Given the description of an element on the screen output the (x, y) to click on. 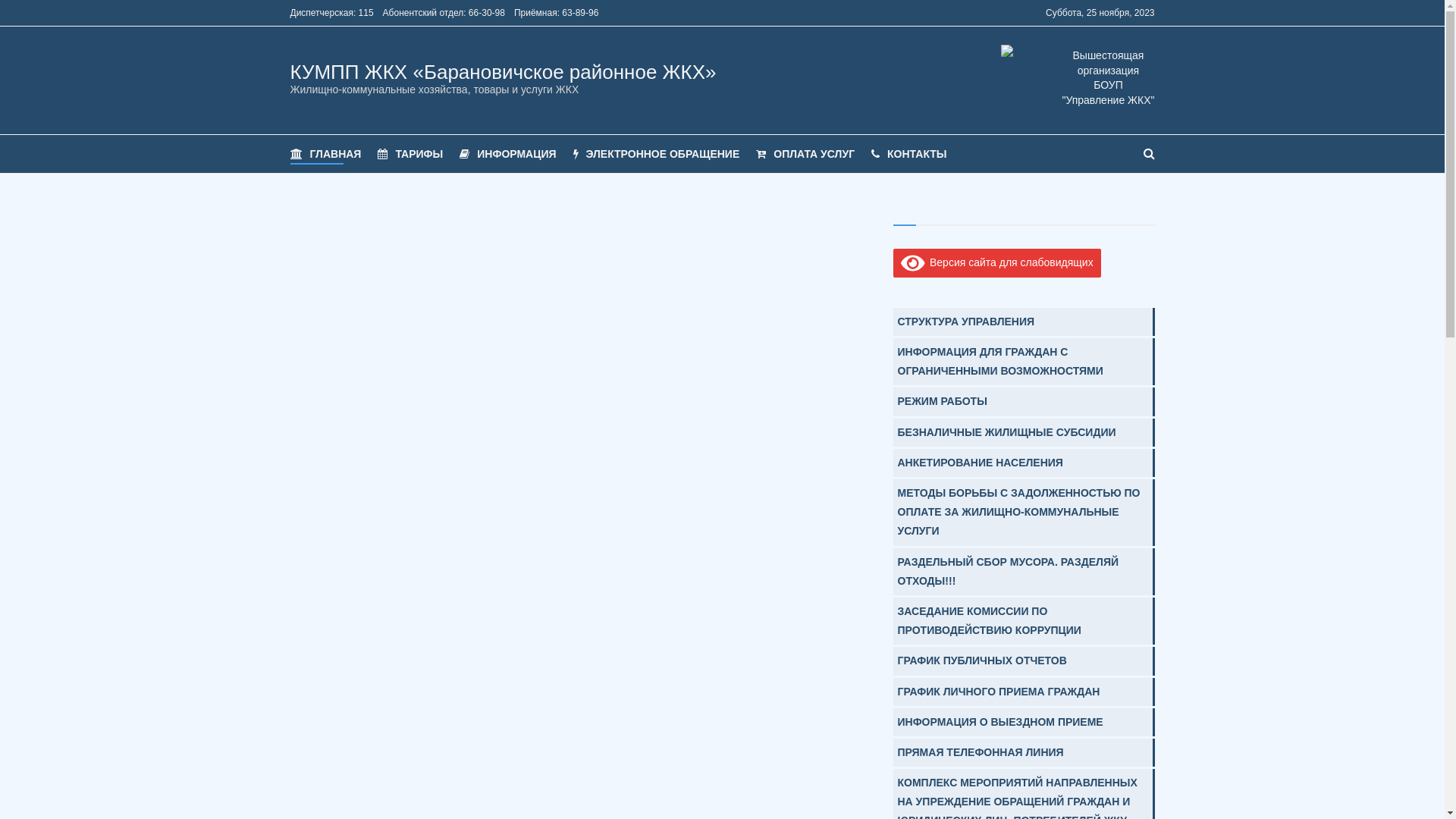
Russian Element type: hover (1009, 13)
Belarusian Element type: hover (1027, 13)
